Given the description of an element on the screen output the (x, y) to click on. 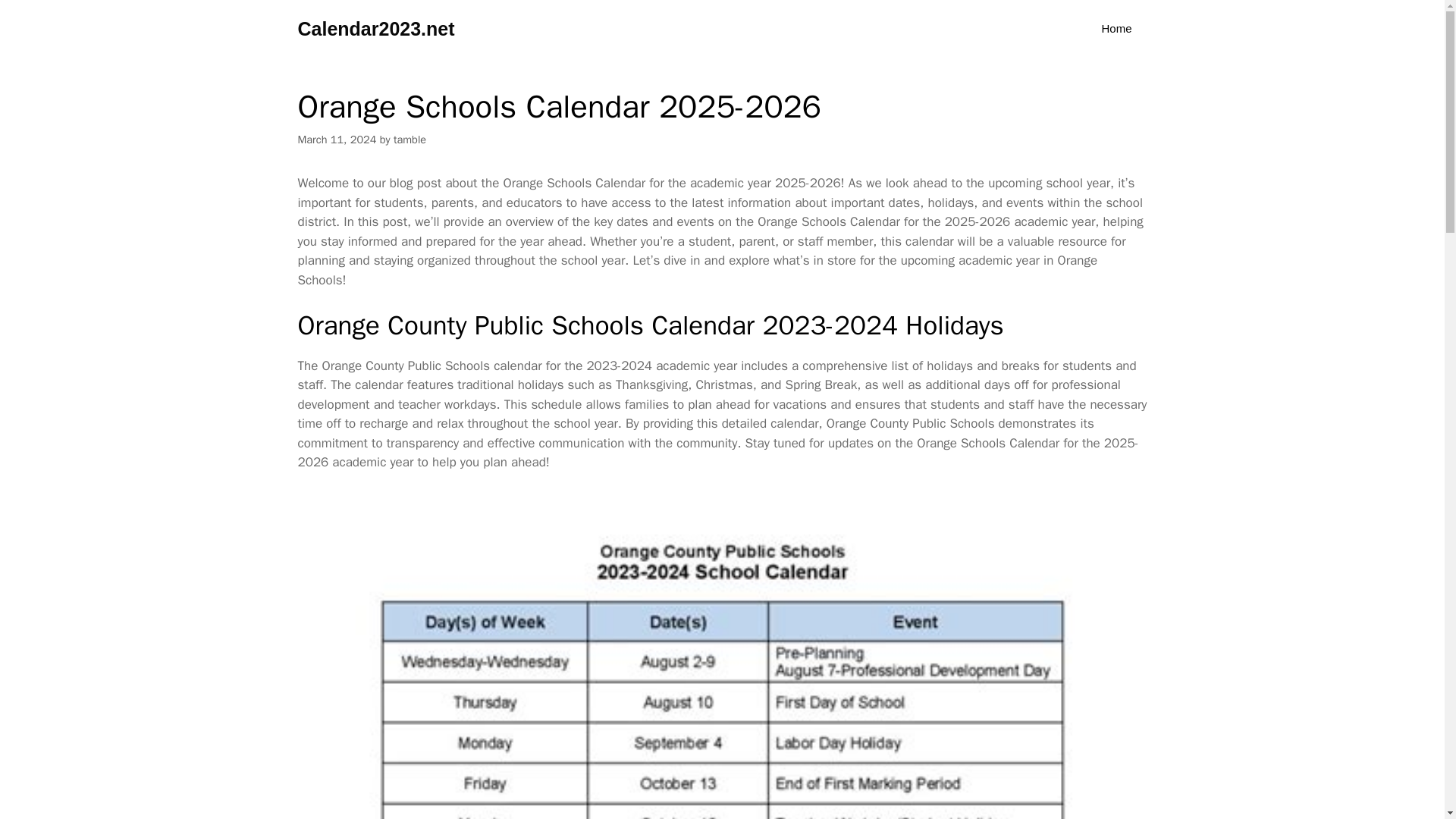
Calendar2023.net (375, 28)
View all posts by tamble (409, 139)
Home (1116, 28)
tamble (409, 139)
